Given the description of an element on the screen output the (x, y) to click on. 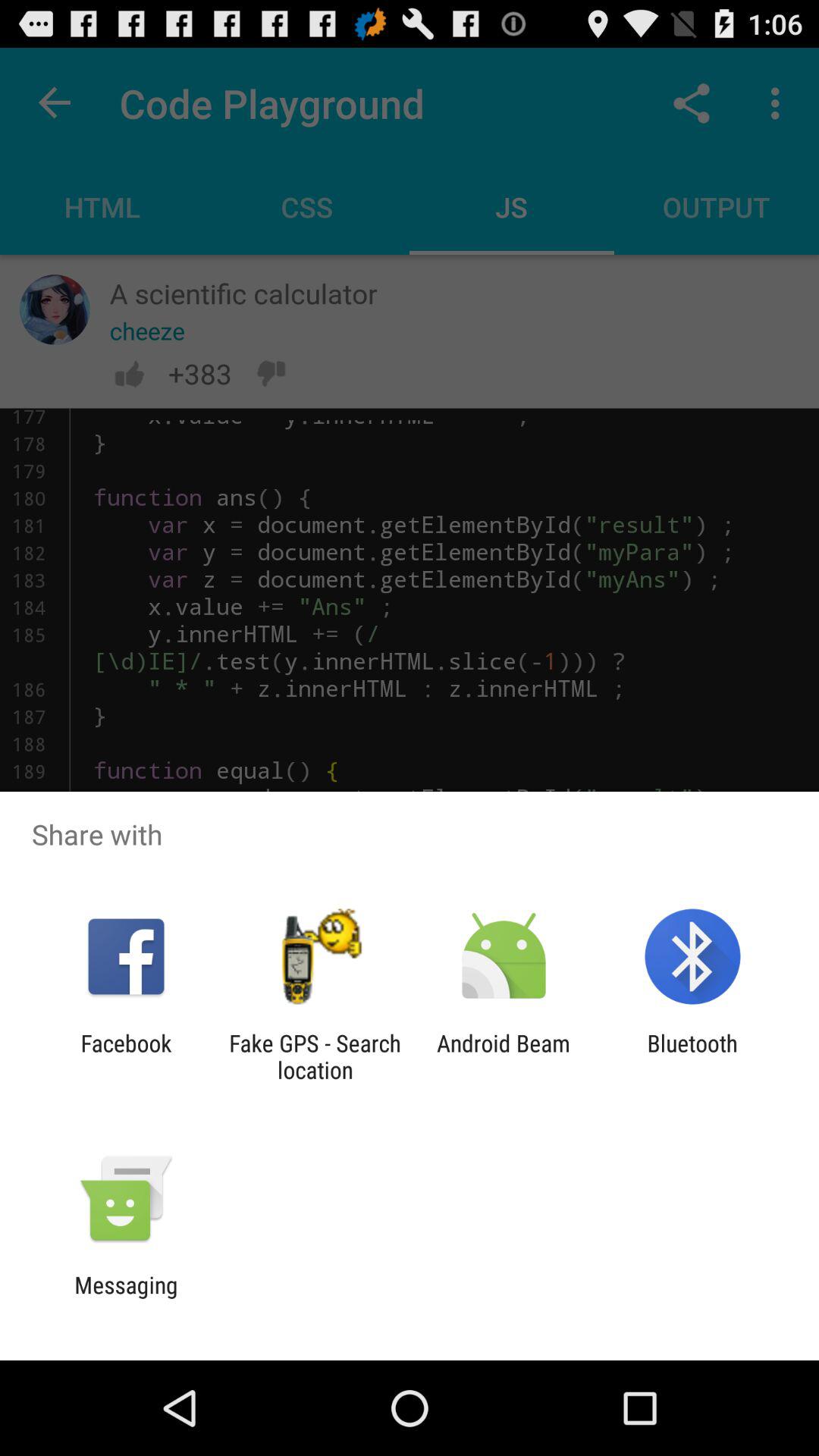
jump until the messaging app (126, 1298)
